Given the description of an element on the screen output the (x, y) to click on. 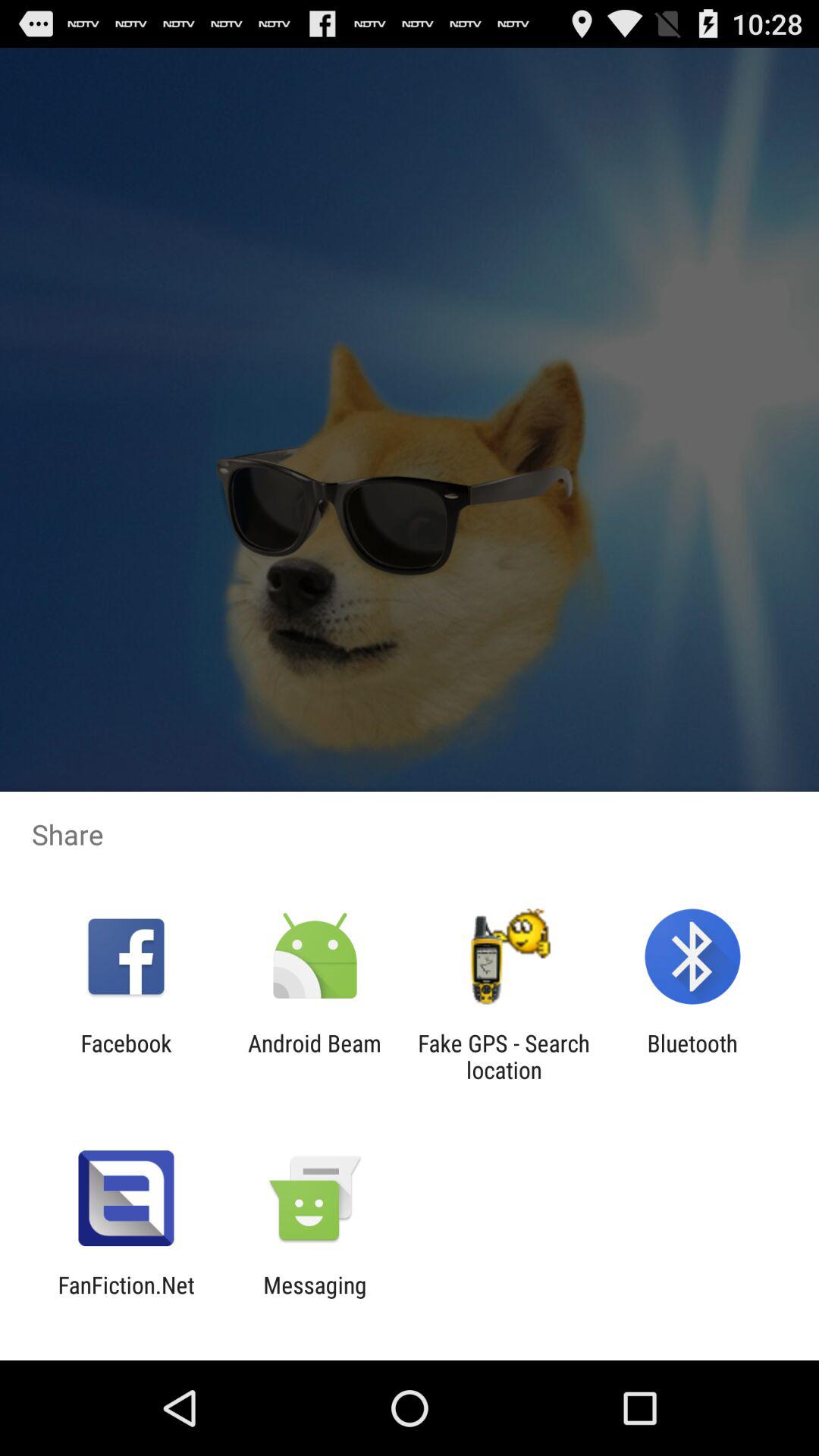
swipe until the android beam icon (314, 1056)
